Given the description of an element on the screen output the (x, y) to click on. 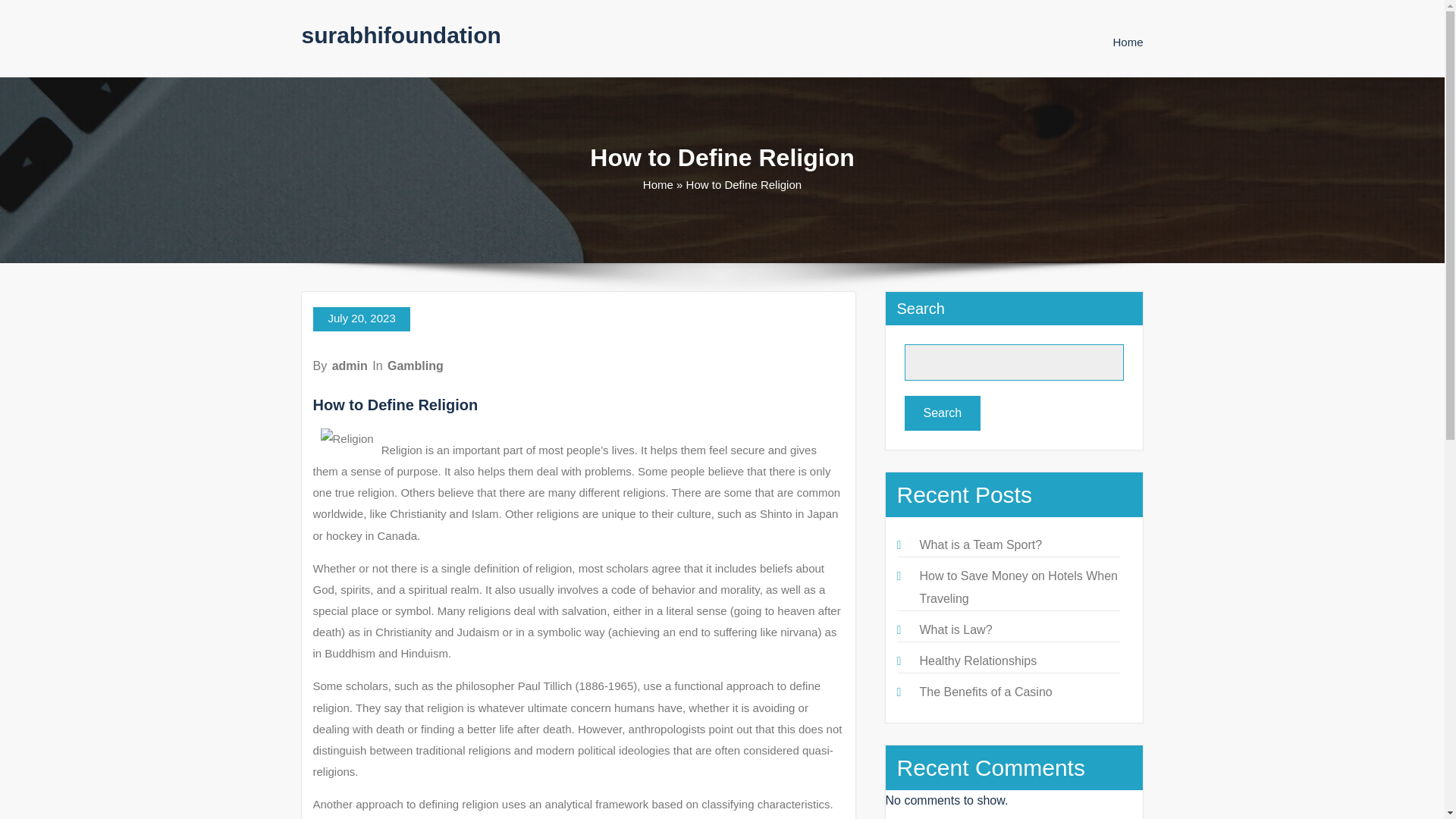
Home (657, 184)
Home (1127, 41)
What is a Team Sport? (980, 544)
July 20, 2023 (361, 319)
admin (349, 365)
The Benefits of a Casino (984, 691)
Gambling (415, 365)
Search (941, 412)
Home (1127, 41)
How to Save Money on Hotels When Traveling (1017, 587)
surabhifoundation (400, 34)
What is Law? (954, 629)
Healthy Relationships (977, 660)
